Given the description of an element on the screen output the (x, y) to click on. 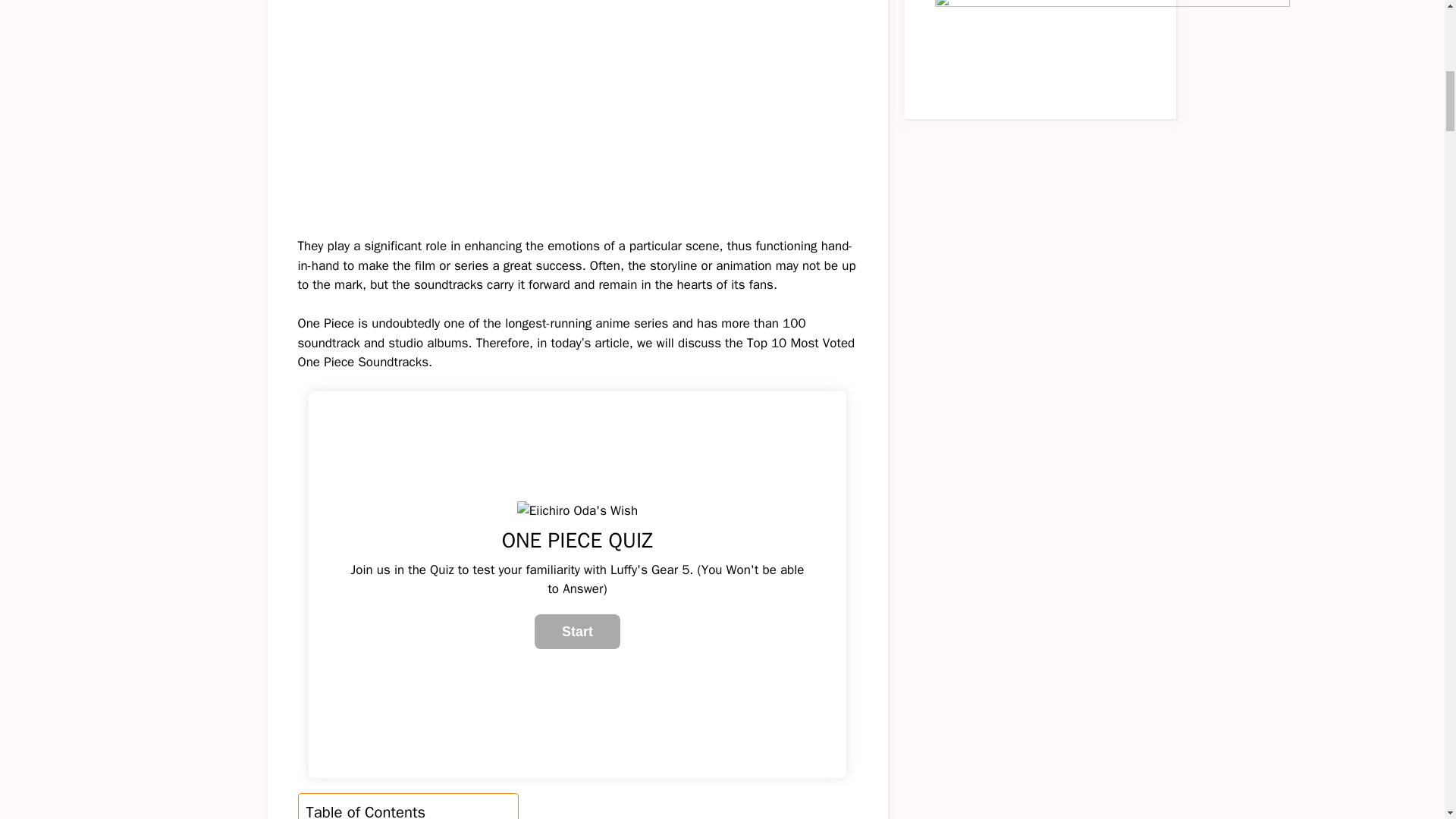
Start (577, 631)
